Given the description of an element on the screen output the (x, y) to click on. 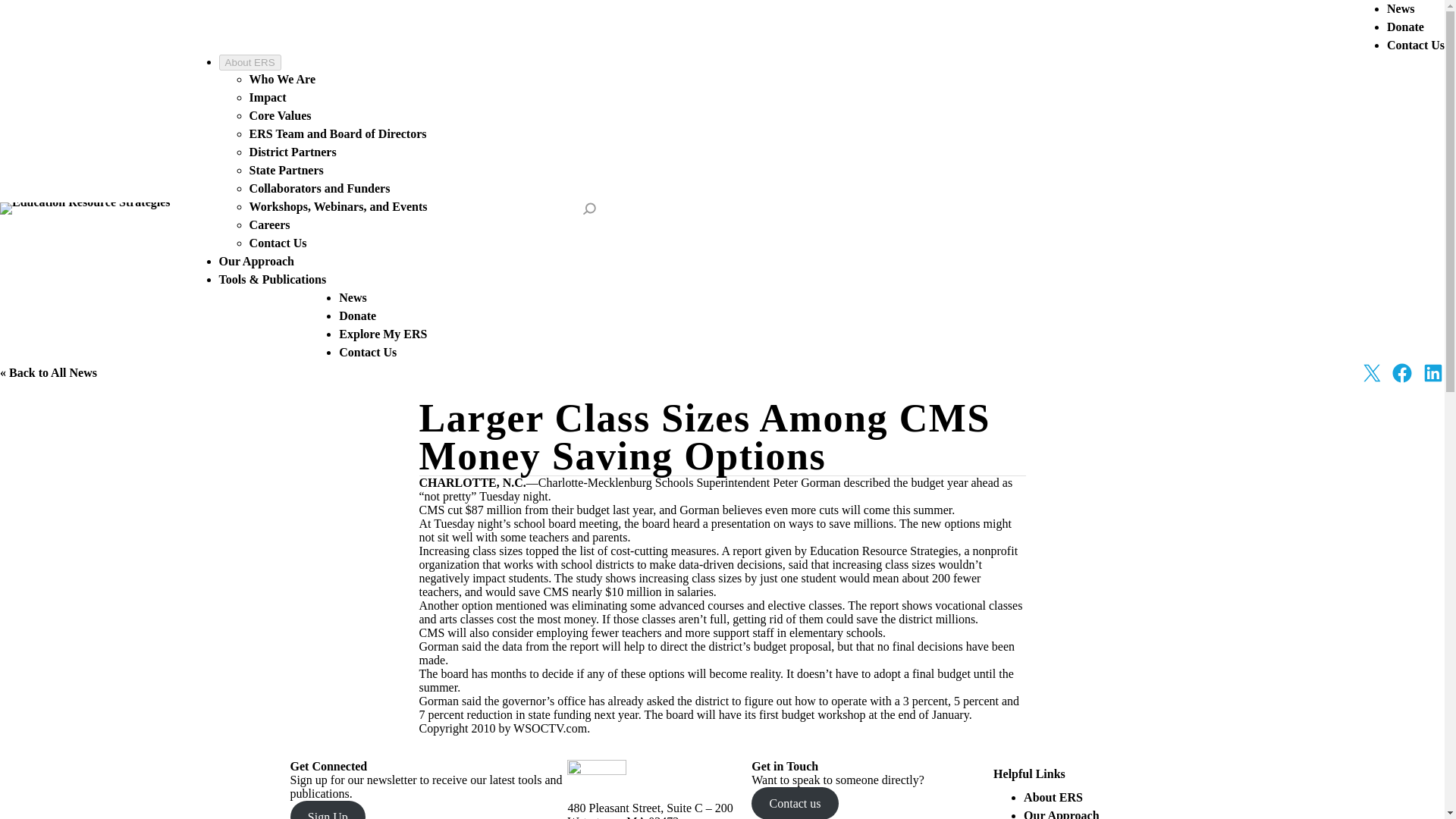
Our Approach (1061, 814)
News (352, 297)
About ERS (250, 62)
Careers (268, 224)
Workshops, Webinars, and Events (338, 205)
Explore My ERS (382, 333)
Click here to search (588, 208)
Donate (357, 315)
Our Approach (256, 260)
About ERS (1053, 797)
